Given the description of an element on the screen output the (x, y) to click on. 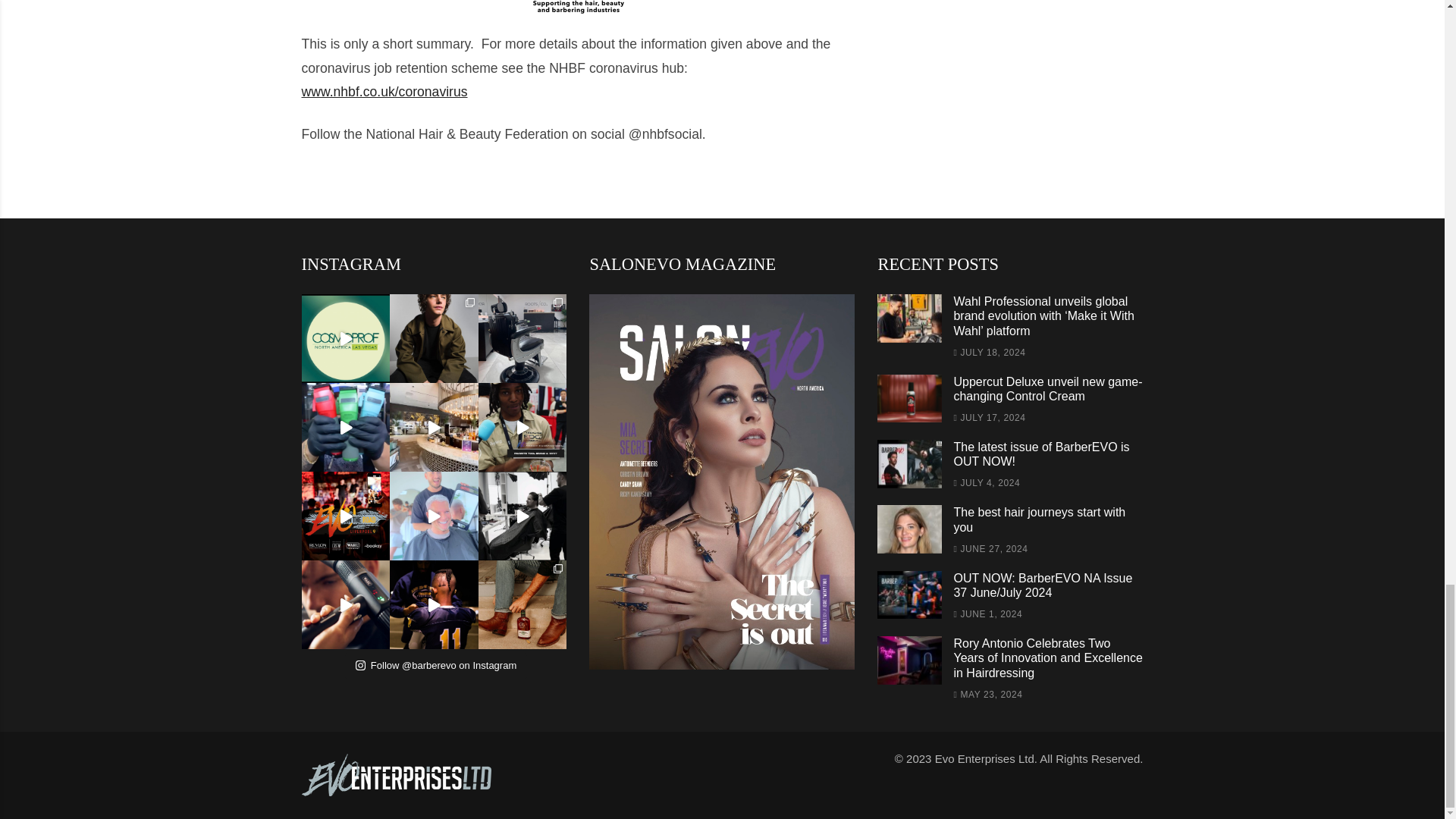
SalonEVO Magazine (721, 481)
